Given the description of an element on the screen output the (x, y) to click on. 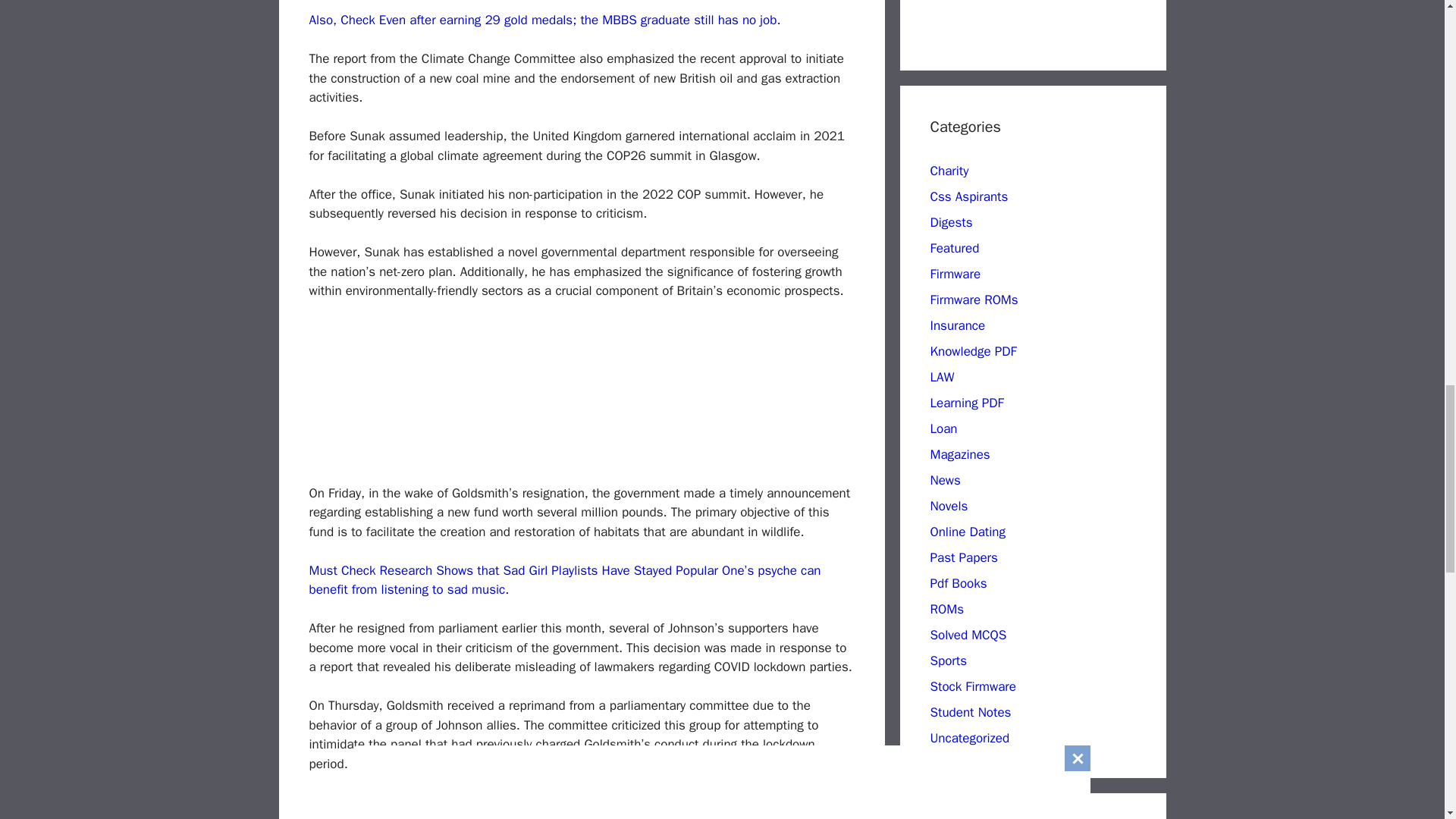
Firmware ROMs (973, 299)
Firmware (954, 273)
Featured (954, 248)
Advertisement (592, 395)
Advertisement (581, 806)
Digests (951, 222)
Advertisement (1043, 17)
Charity (949, 170)
Css Aspirants (968, 196)
Insurance (957, 325)
